Given the description of an element on the screen output the (x, y) to click on. 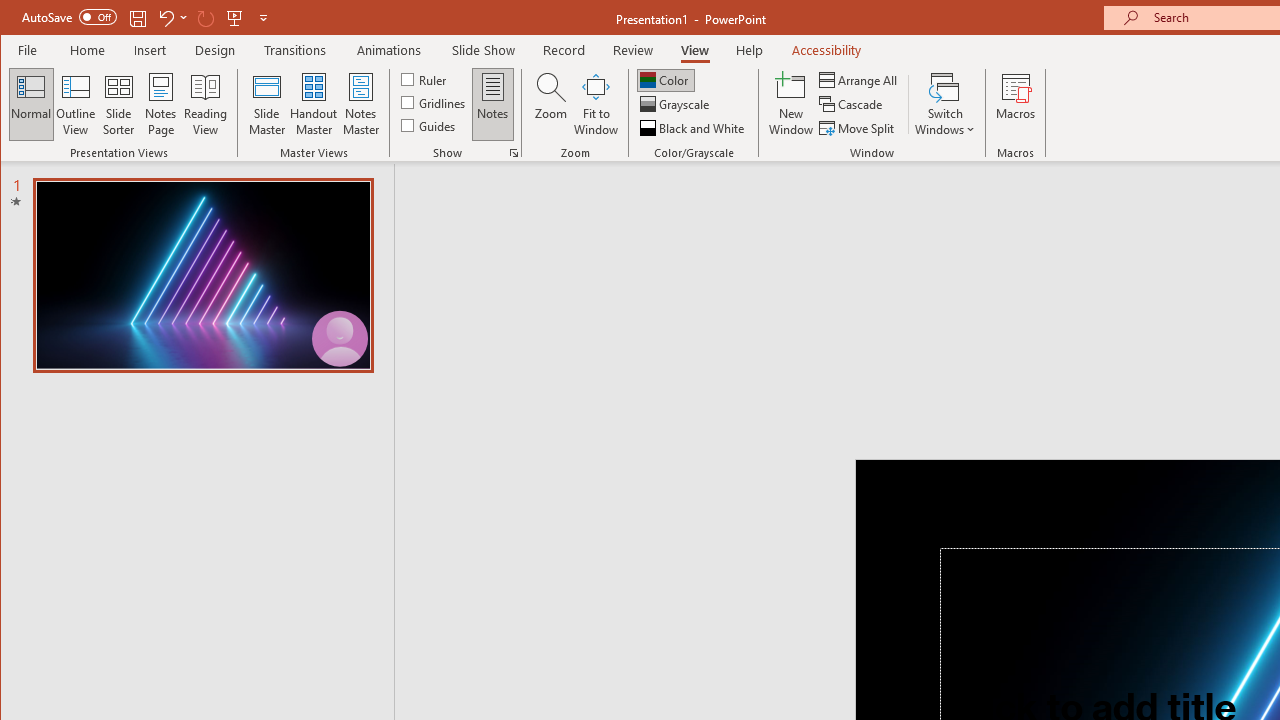
Color (666, 80)
Zoom... (550, 104)
Handout Master (314, 104)
Move Split (858, 127)
Notes Page (160, 104)
Black and White (694, 127)
Grid Settings... (513, 152)
Ruler (425, 78)
Arrange All (859, 80)
Grayscale (676, 103)
